Given the description of an element on the screen output the (x, y) to click on. 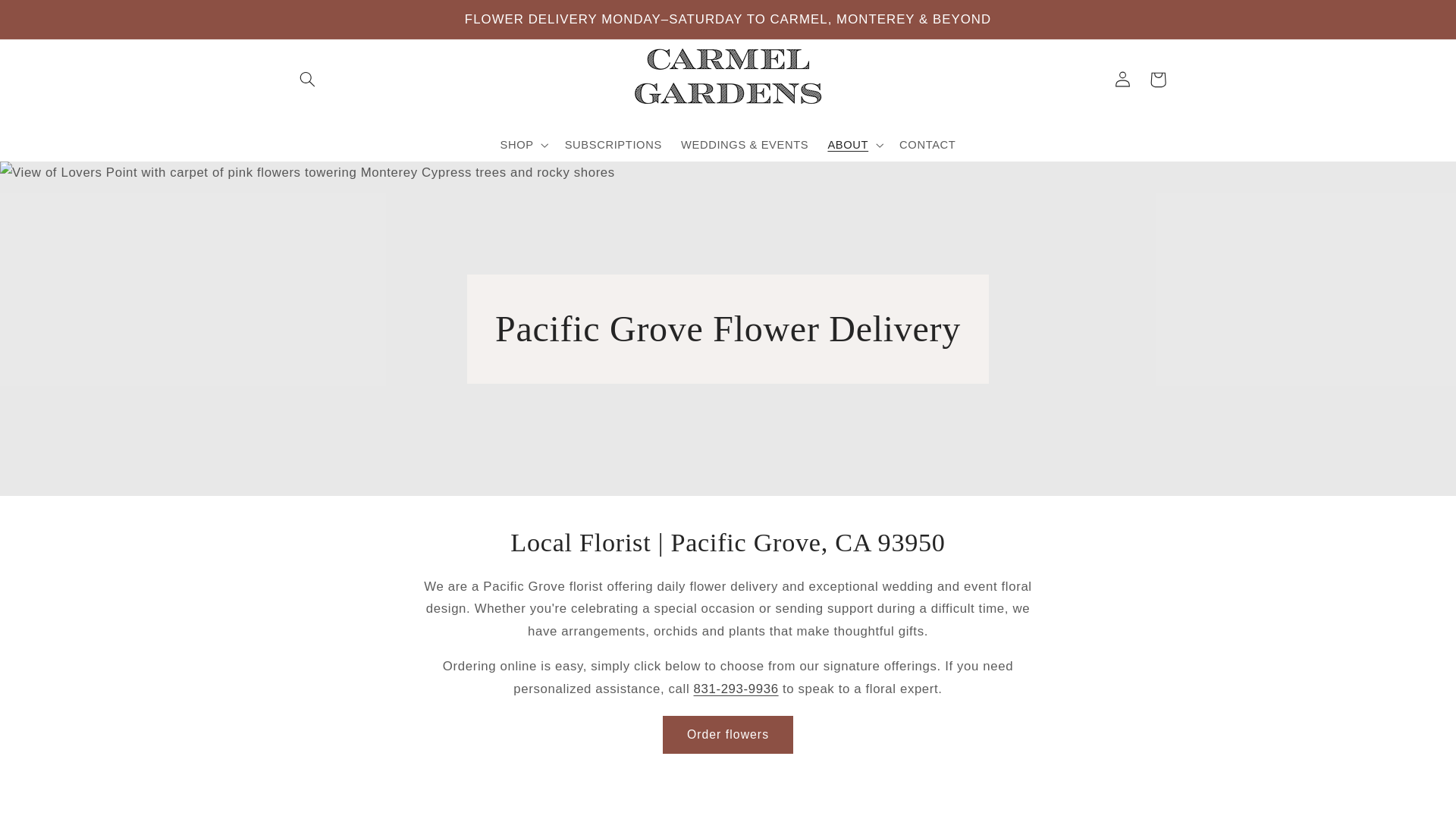
Skip to content (48, 18)
tel:8312939936 (736, 688)
